Given the description of an element on the screen output the (x, y) to click on. 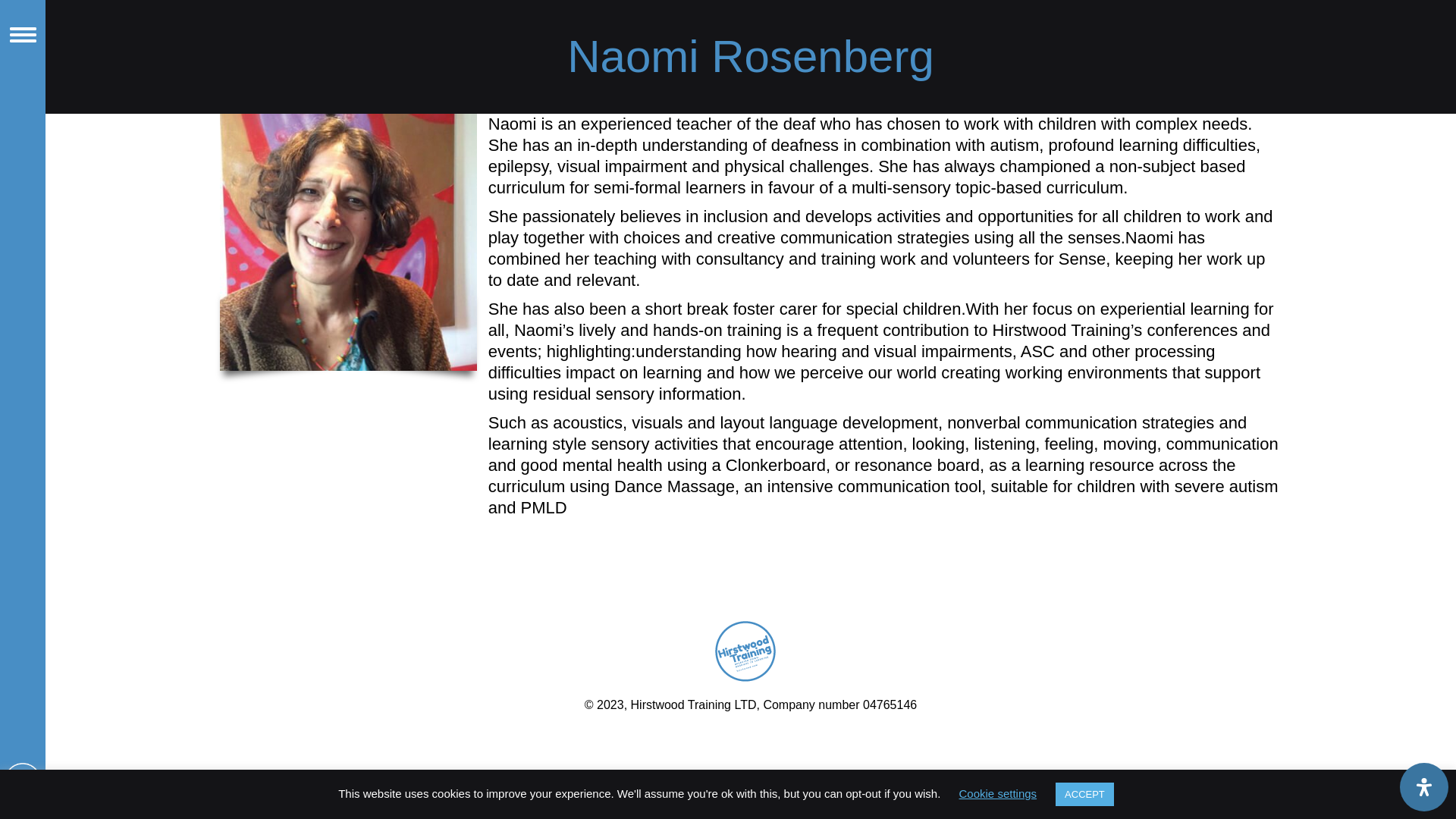
Naomi-Rosenberg (348, 242)
